Given the description of an element on the screen output the (x, y) to click on. 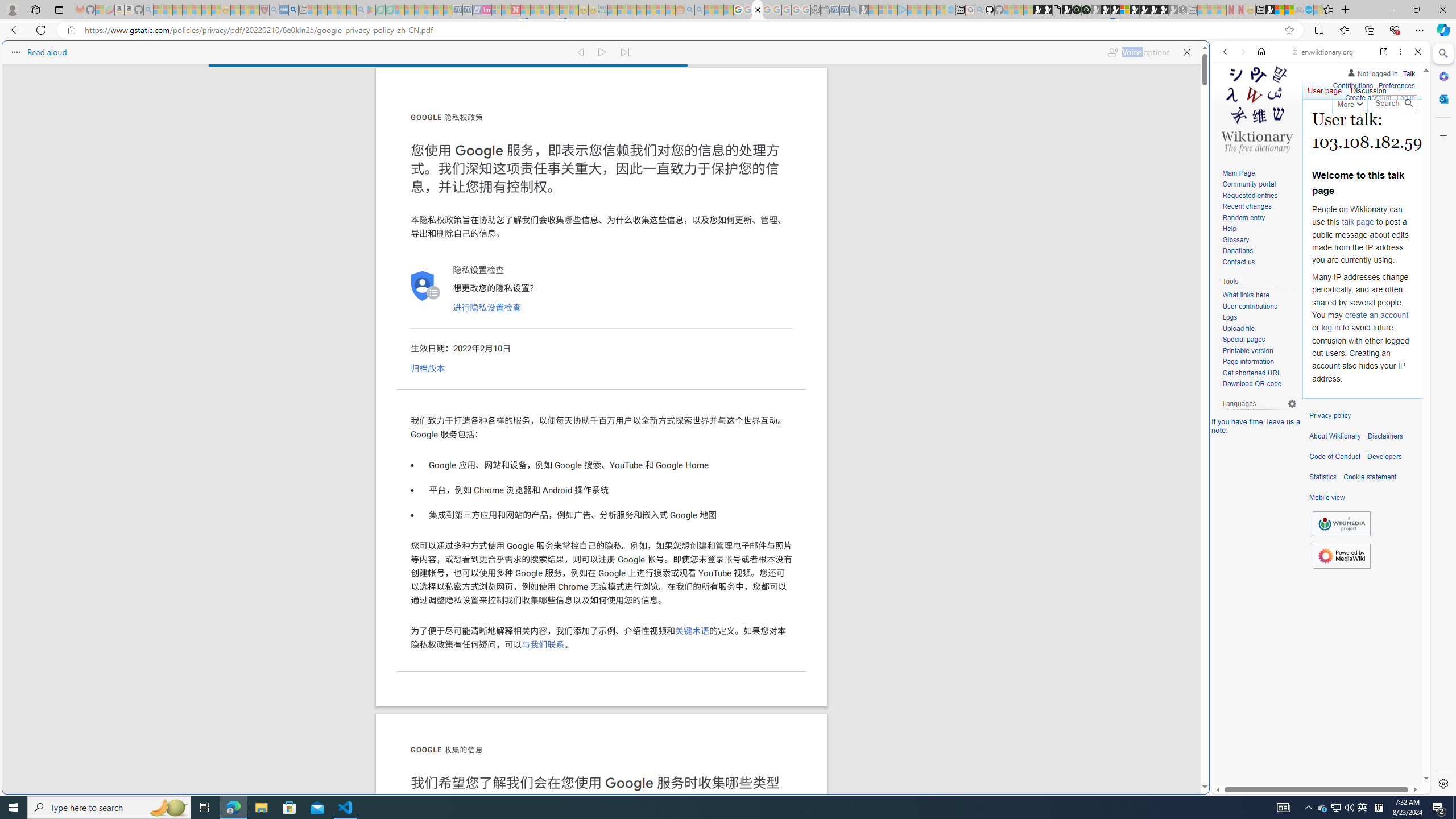
Special pages (1259, 339)
Get shortened URL (1259, 373)
